Given the description of an element on the screen output the (x, y) to click on. 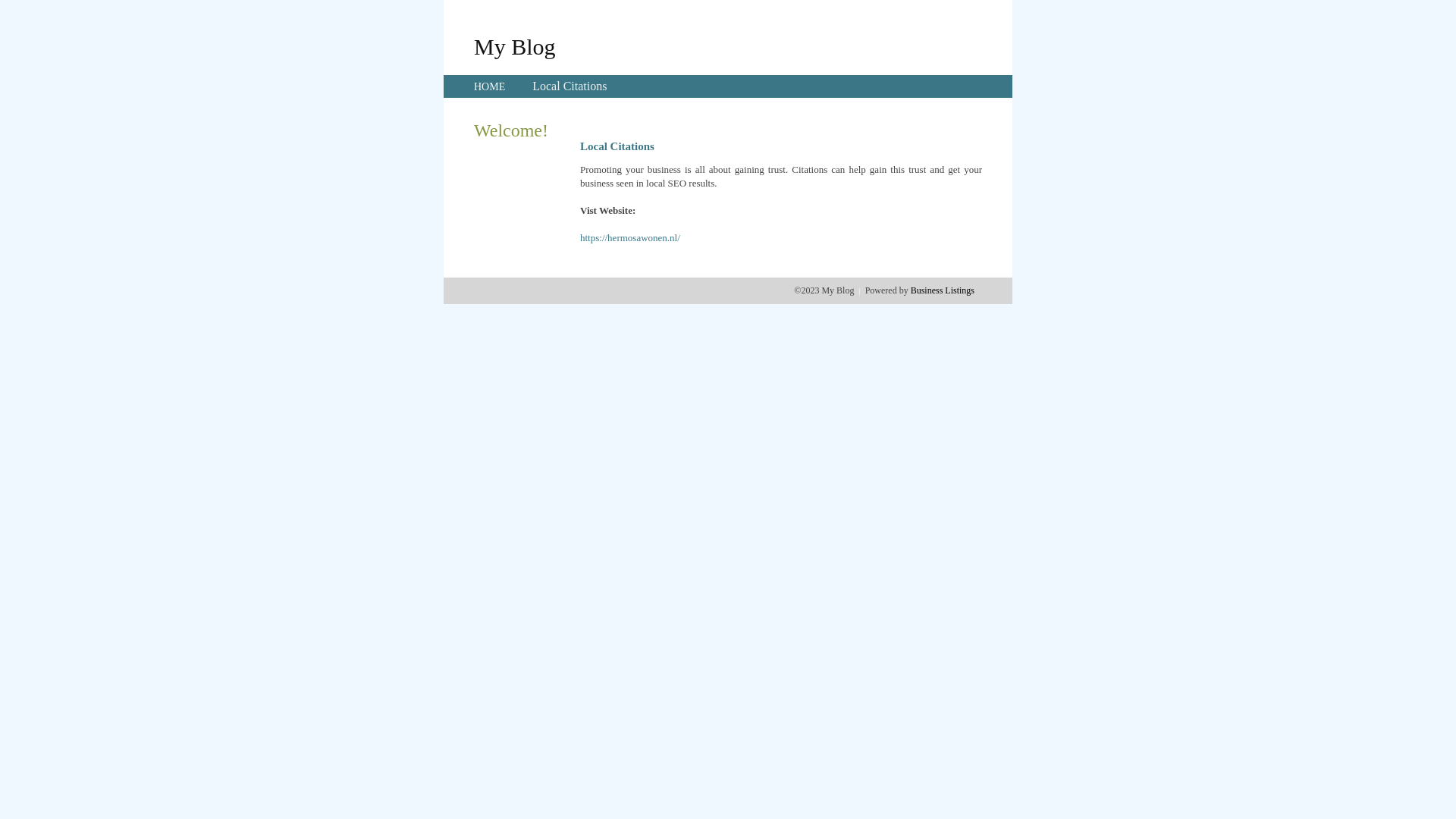
HOME Element type: text (489, 86)
My Blog Element type: text (514, 46)
https://hermosawonen.nl/ Element type: text (630, 237)
Business Listings Element type: text (942, 290)
Local Citations Element type: text (569, 85)
